Given the description of an element on the screen output the (x, y) to click on. 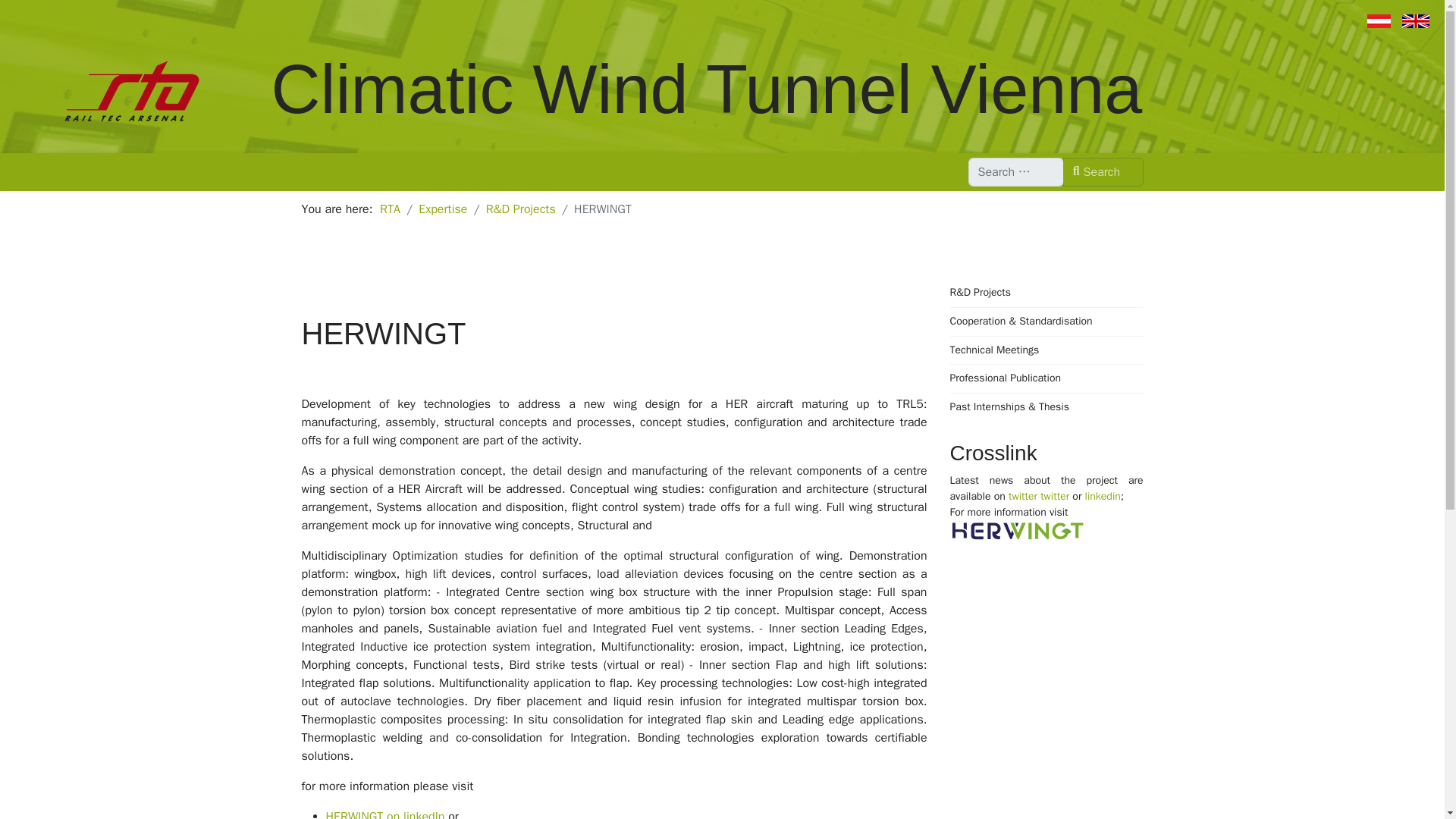
twitter twitter (1040, 495)
HERWINGT on linkedIn (385, 814)
Search (1102, 172)
German (1378, 20)
Technical Meetings (1045, 350)
RTA (390, 209)
linkedin (1102, 495)
Professional Publication (1045, 378)
Expertise (443, 209)
